Given the description of an element on the screen output the (x, y) to click on. 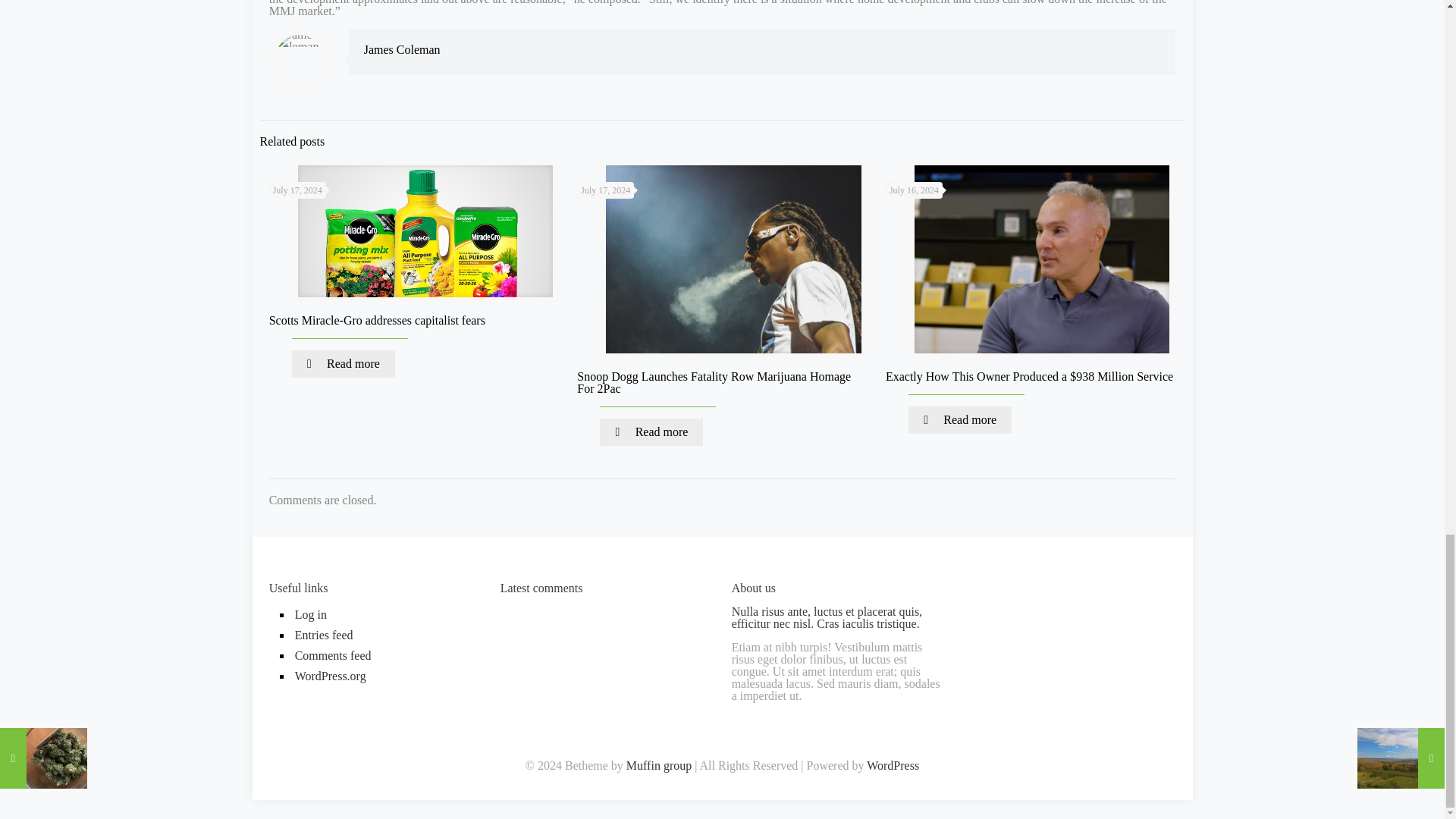
Comments feed (386, 657)
WordPress.org (386, 677)
Read more (343, 363)
Snoop Dogg Launches Fatality Row Marijuana Homage For 2Pac (713, 382)
James Coleman (402, 49)
Scotts Miracle-Gro addresses capitalist fears (376, 319)
Log in (386, 616)
Read more (959, 420)
WordPress (892, 765)
Muffin group (658, 765)
Read more (651, 431)
Entries feed (386, 636)
